Given the description of an element on the screen output the (x, y) to click on. 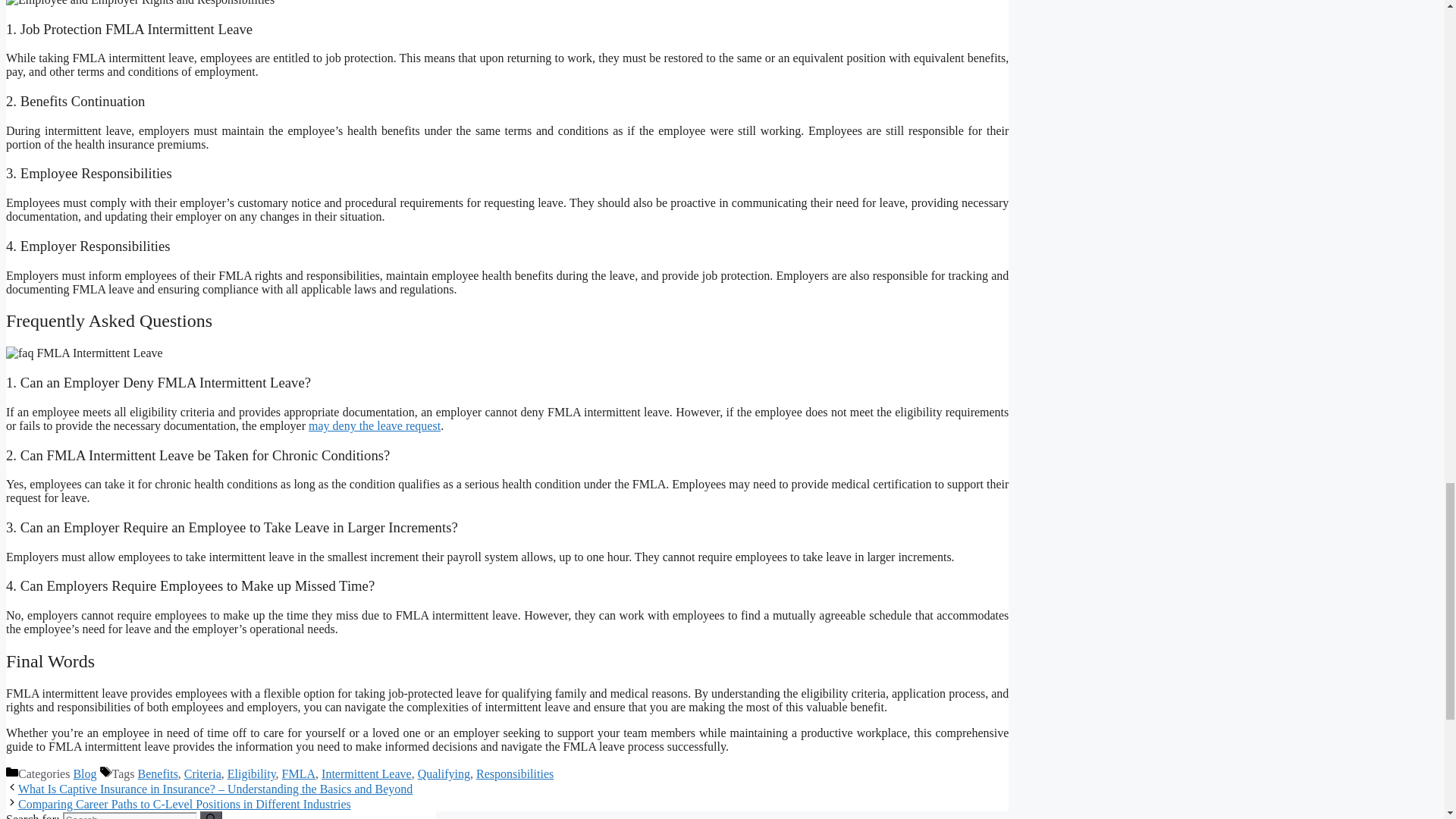
Qualifying (443, 773)
Responsibilities (514, 773)
Blog (84, 773)
Eligibility (251, 773)
Criteria (202, 773)
Intermittent Leave (366, 773)
Search for: (129, 815)
FMLA (298, 773)
Benefits (157, 773)
may deny the leave request (374, 425)
